Given the description of an element on the screen output the (x, y) to click on. 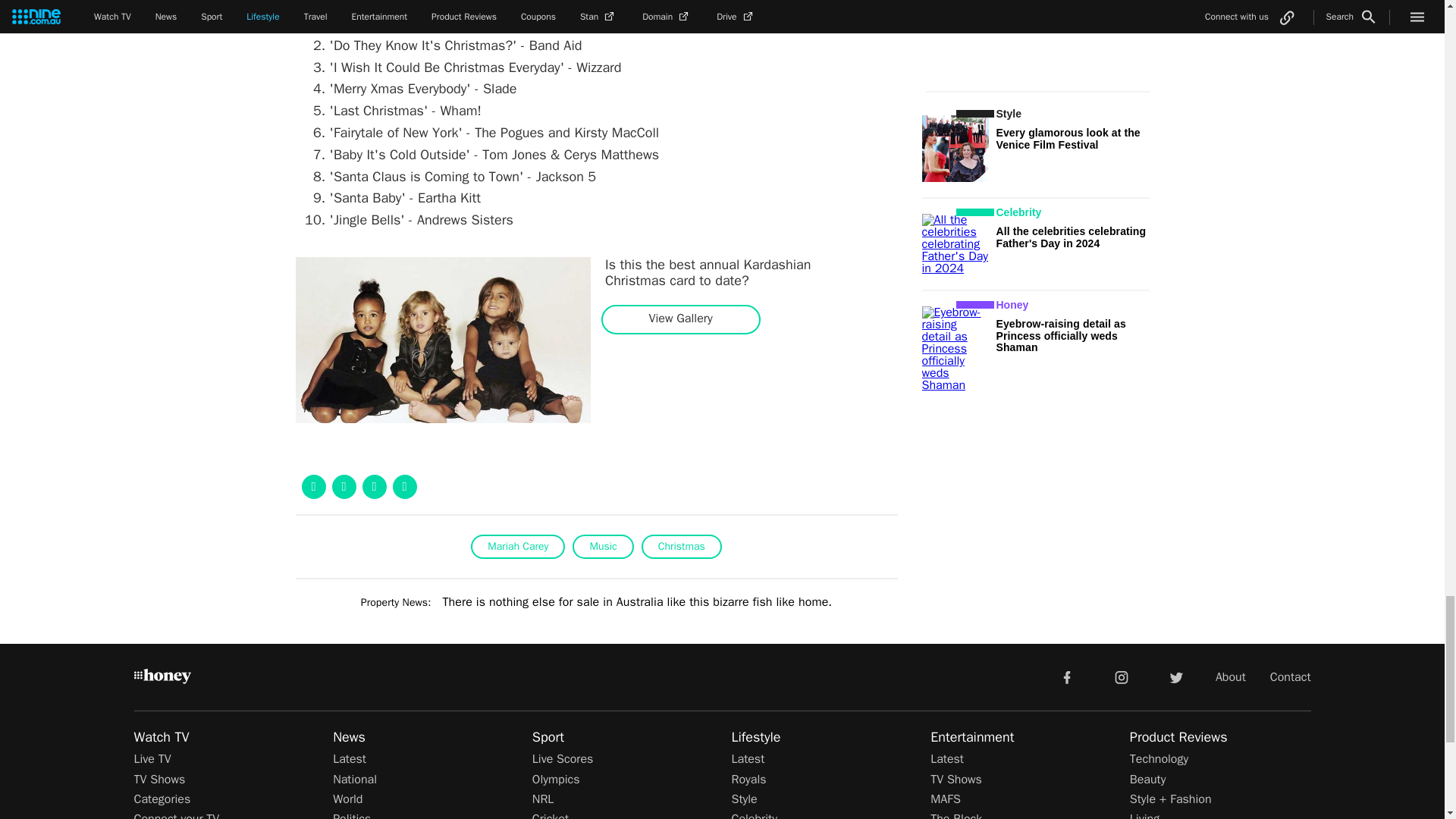
facebook (1066, 675)
View Gallery (680, 318)
instagram (1121, 675)
twitter (1175, 675)
Mariah Carey (517, 546)
